Given the description of an element on the screen output the (x, y) to click on. 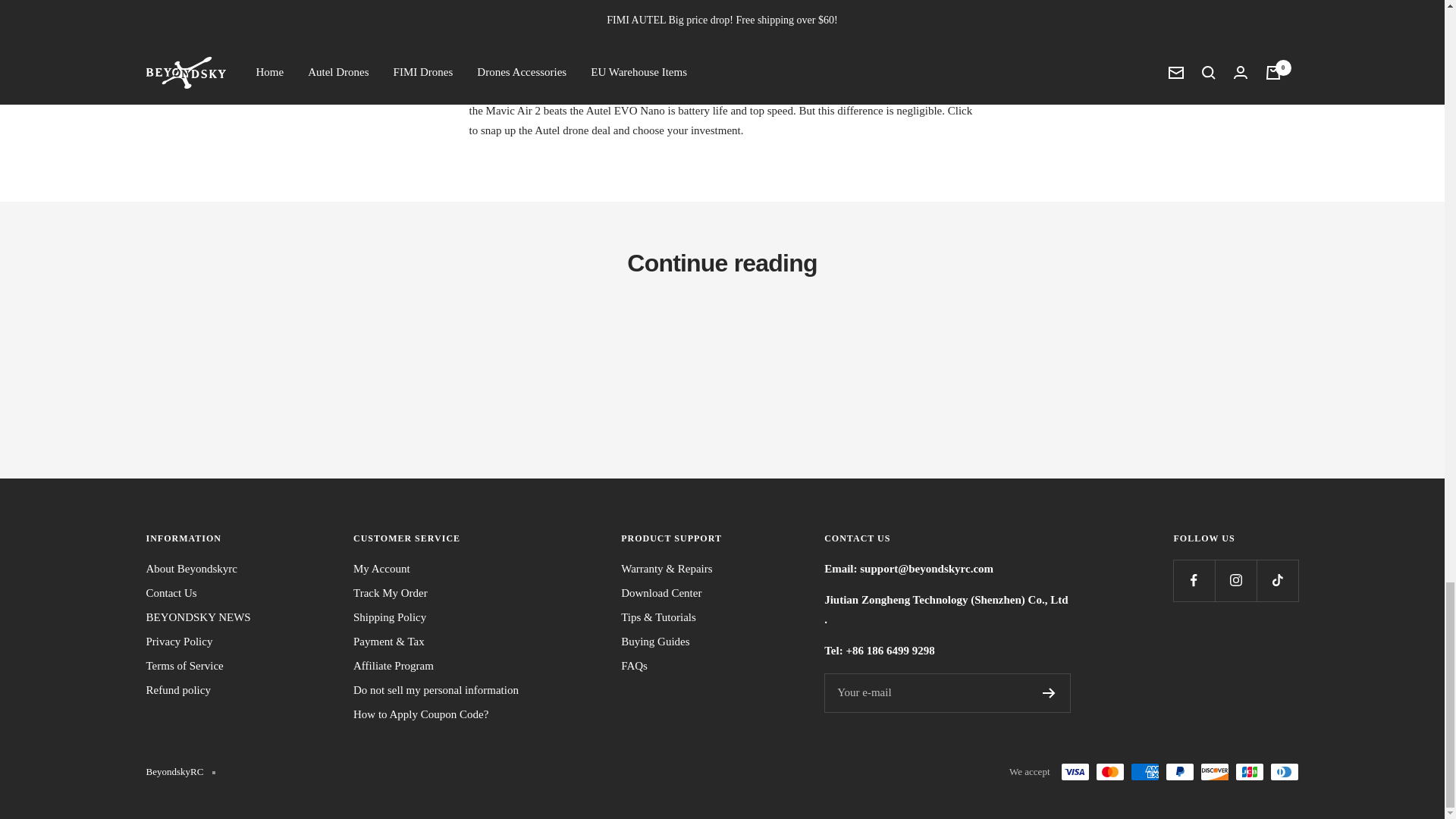
Register (1048, 692)
